Given the description of an element on the screen output the (x, y) to click on. 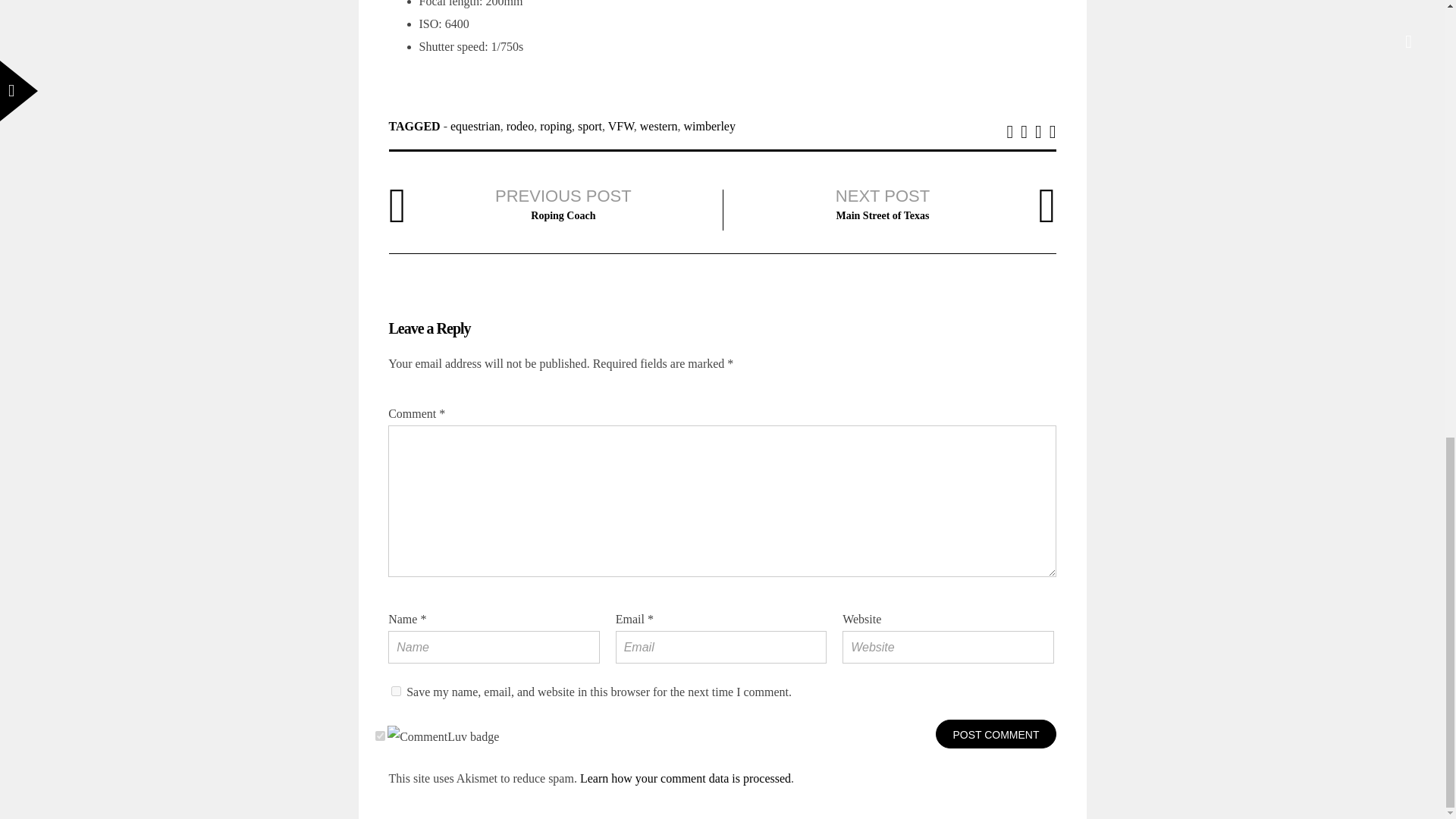
on (380, 736)
yes (396, 691)
Post Comment (995, 733)
